Given the description of an element on the screen output the (x, y) to click on. 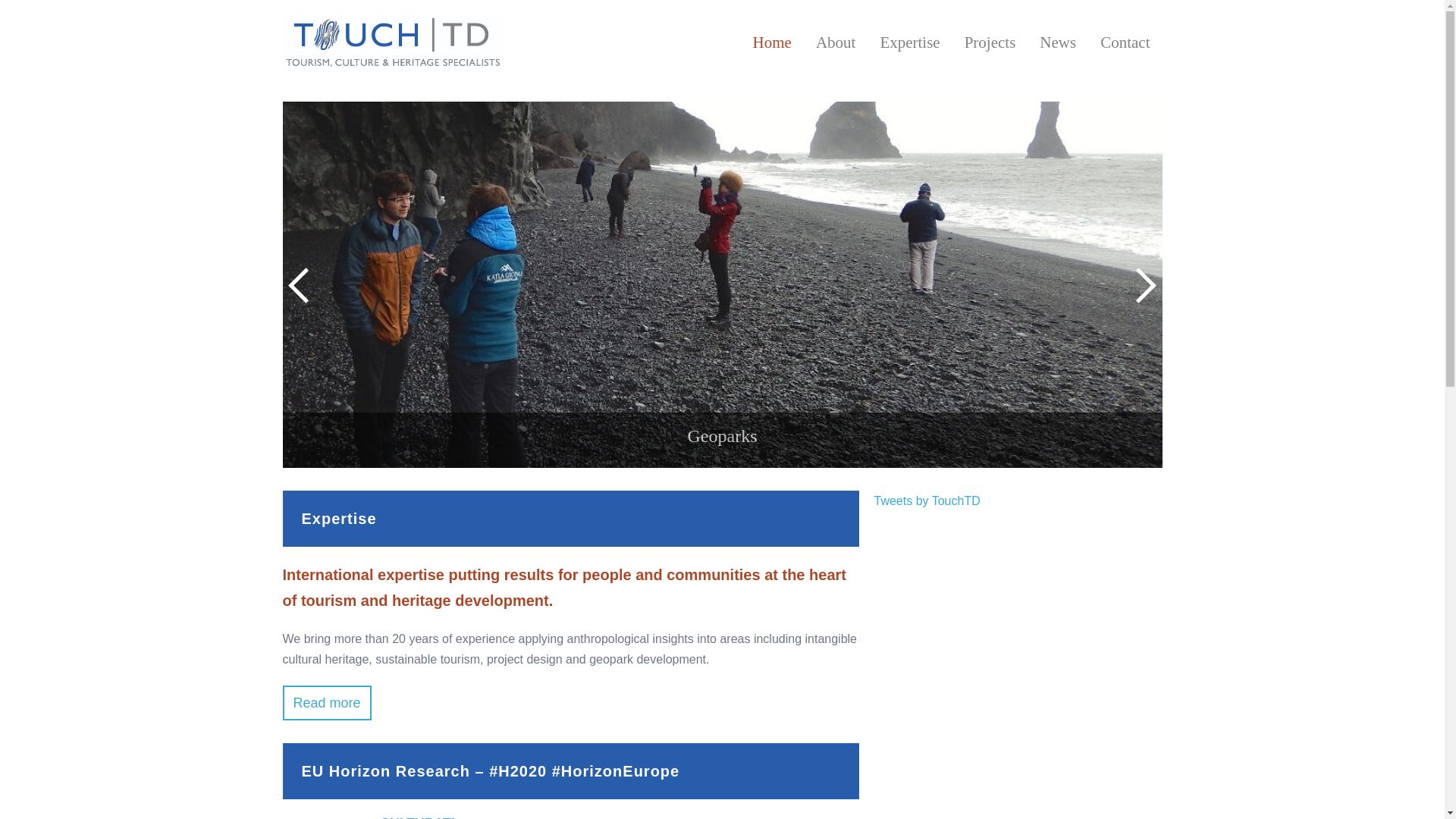
Touch TD (392, 43)
Expertise (909, 42)
Projects (989, 42)
Home (772, 42)
About (835, 42)
Tweets by TouchTD (926, 500)
News (1057, 42)
Read more (326, 703)
Contact (1124, 42)
